Given the description of an element on the screen output the (x, y) to click on. 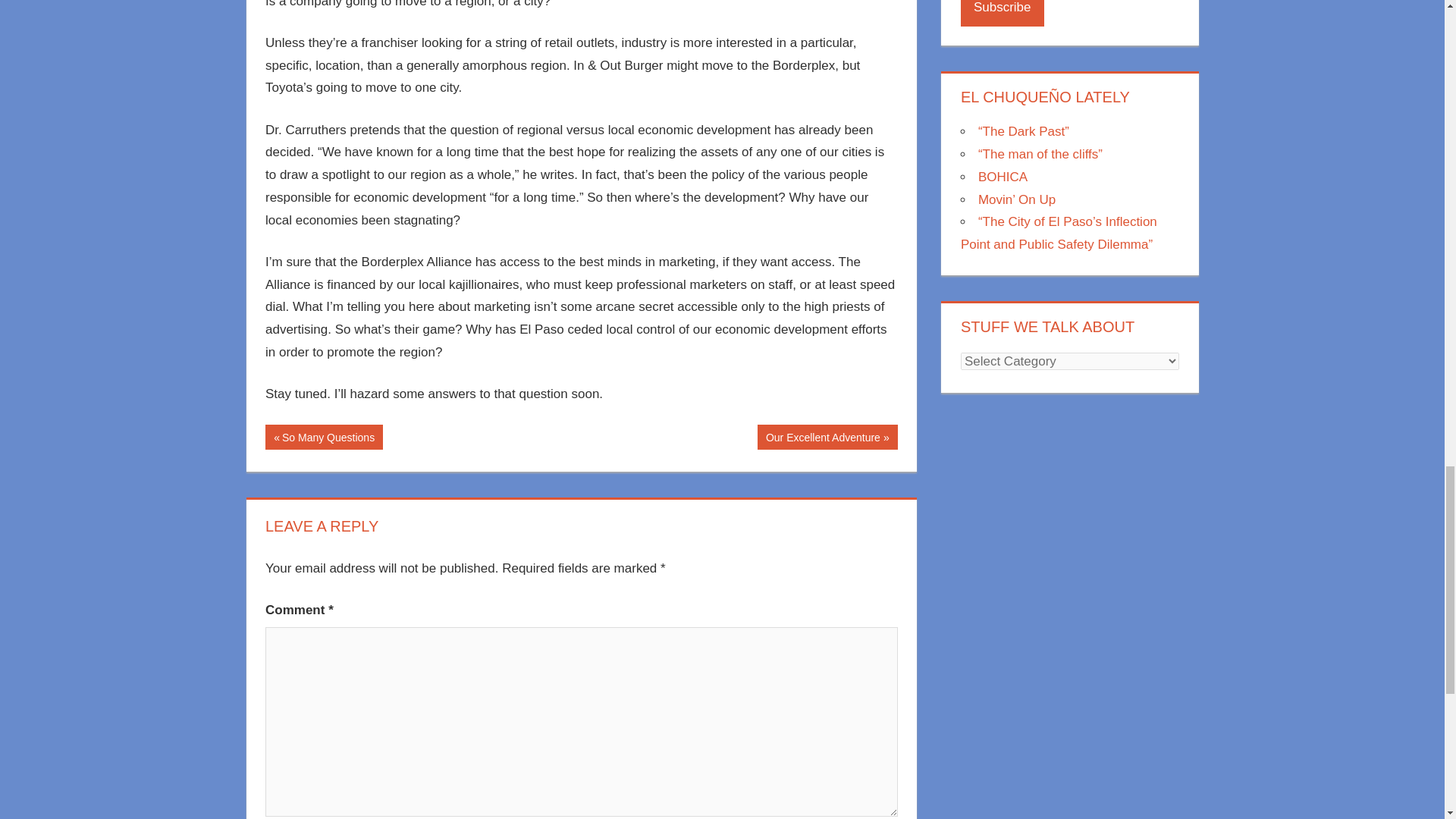
BOHICA (1002, 176)
Subscribe (1001, 13)
Subscribe (827, 437)
